Given the description of an element on the screen output the (x, y) to click on. 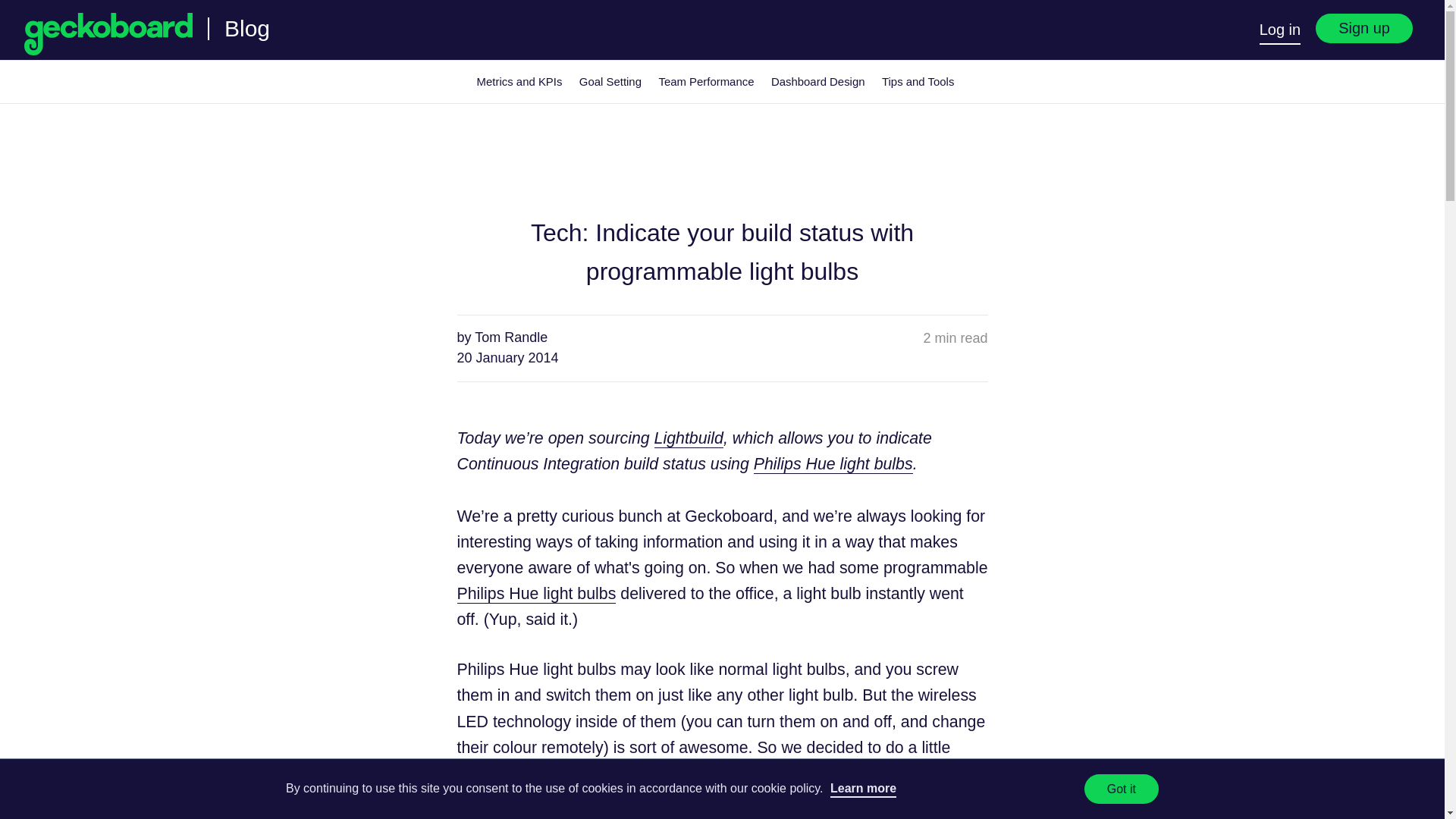
Log in (1280, 31)
Team Performance (706, 81)
Got it (1121, 788)
Tips and Tools (917, 81)
Blog (246, 27)
Geckoboard (108, 33)
Geckoboard blog (246, 27)
Dashboard Design (817, 81)
Learn more (862, 789)
Lightbuild (688, 438)
Goal Setting (610, 81)
Philips Hue light bulbs (536, 593)
Philips Hue light bulbs (833, 464)
Sign up (1364, 28)
